Given the description of an element on the screen output the (x, y) to click on. 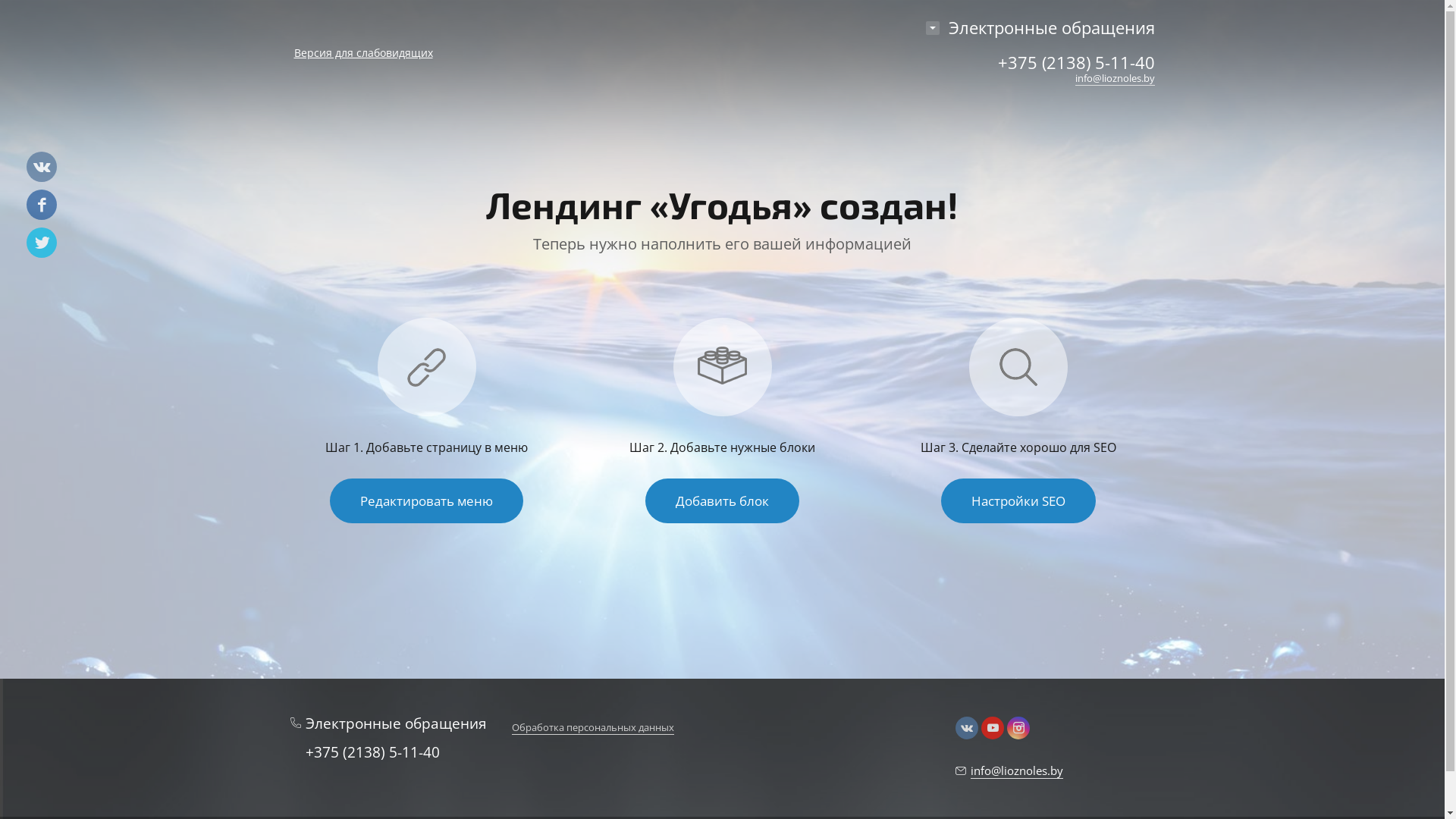
info@lioznoles.by Element type: text (1009, 770)
info@lioznoles.by Element type: text (1114, 78)
